Given the description of an element on the screen output the (x, y) to click on. 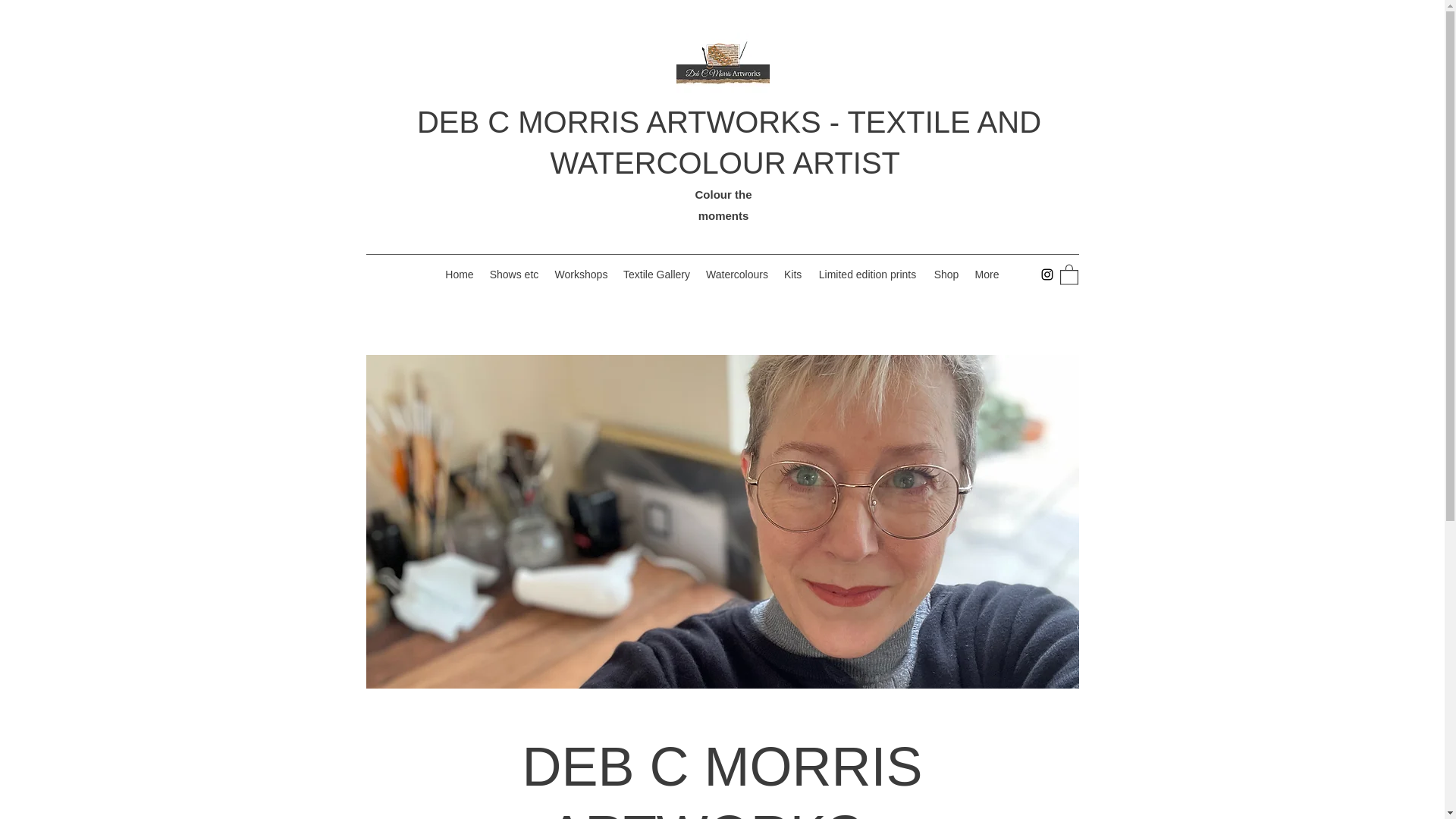
Workshops (581, 273)
Home (459, 273)
Shows etc (514, 273)
DEB C MORRIS ARTWORKS - TEXTILE AND WATERCOLOUR ARTIST  (728, 142)
Watercolours (736, 273)
Limited edition prints (867, 273)
Kits (792, 273)
Shop (946, 273)
